Given the description of an element on the screen output the (x, y) to click on. 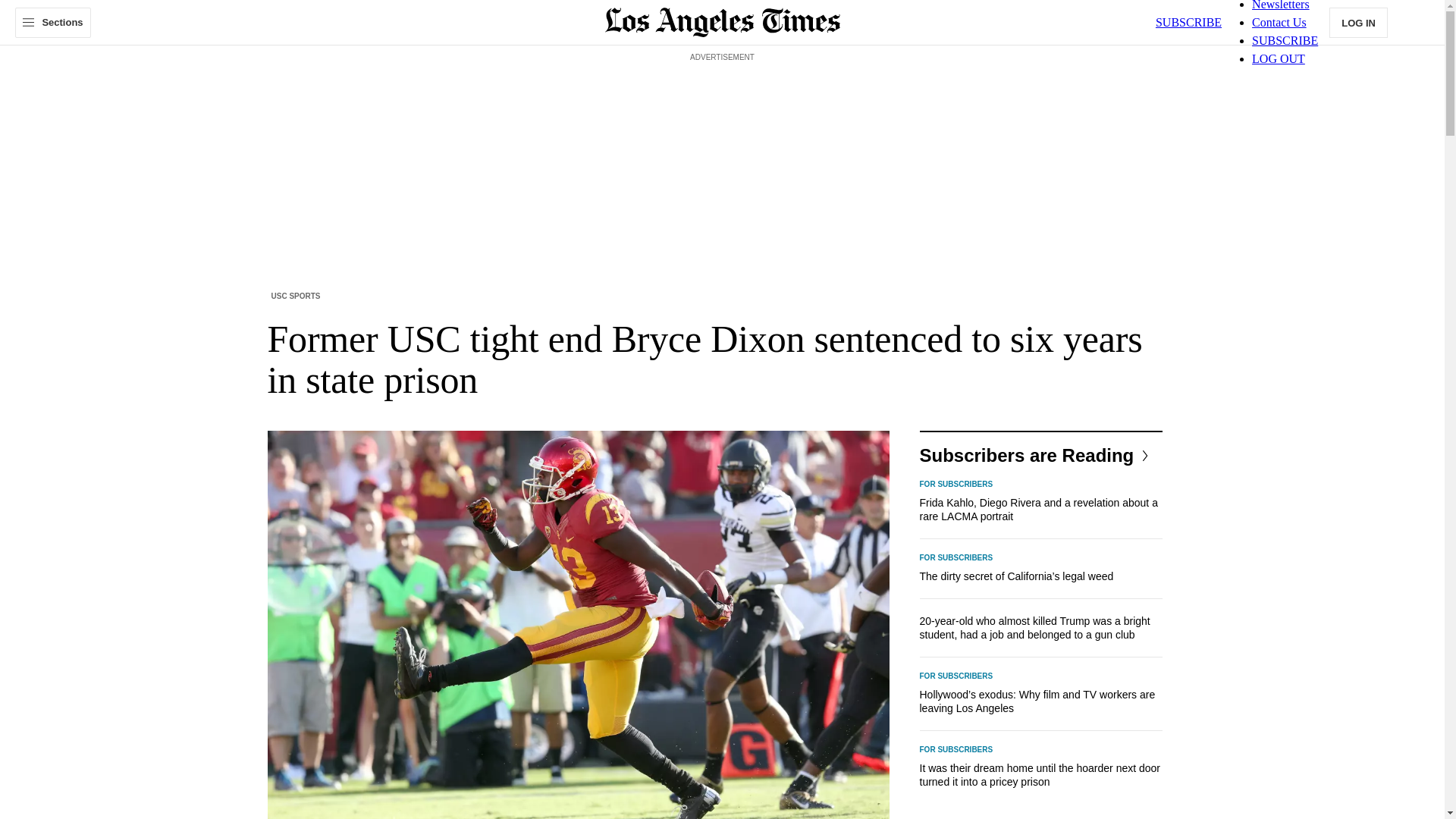
3rd party ad content (722, 100)
